Given the description of an element on the screen output the (x, y) to click on. 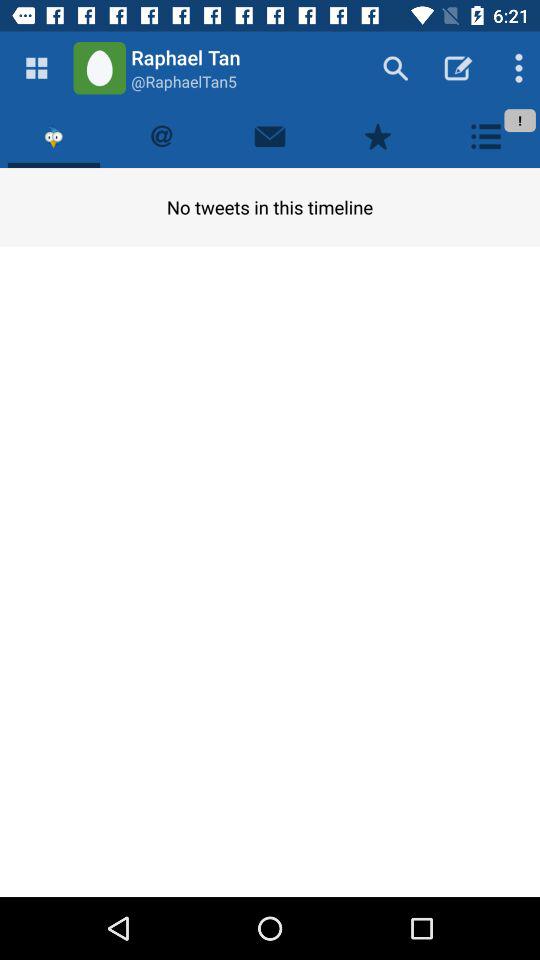
go to mentions (162, 136)
